Given the description of an element on the screen output the (x, y) to click on. 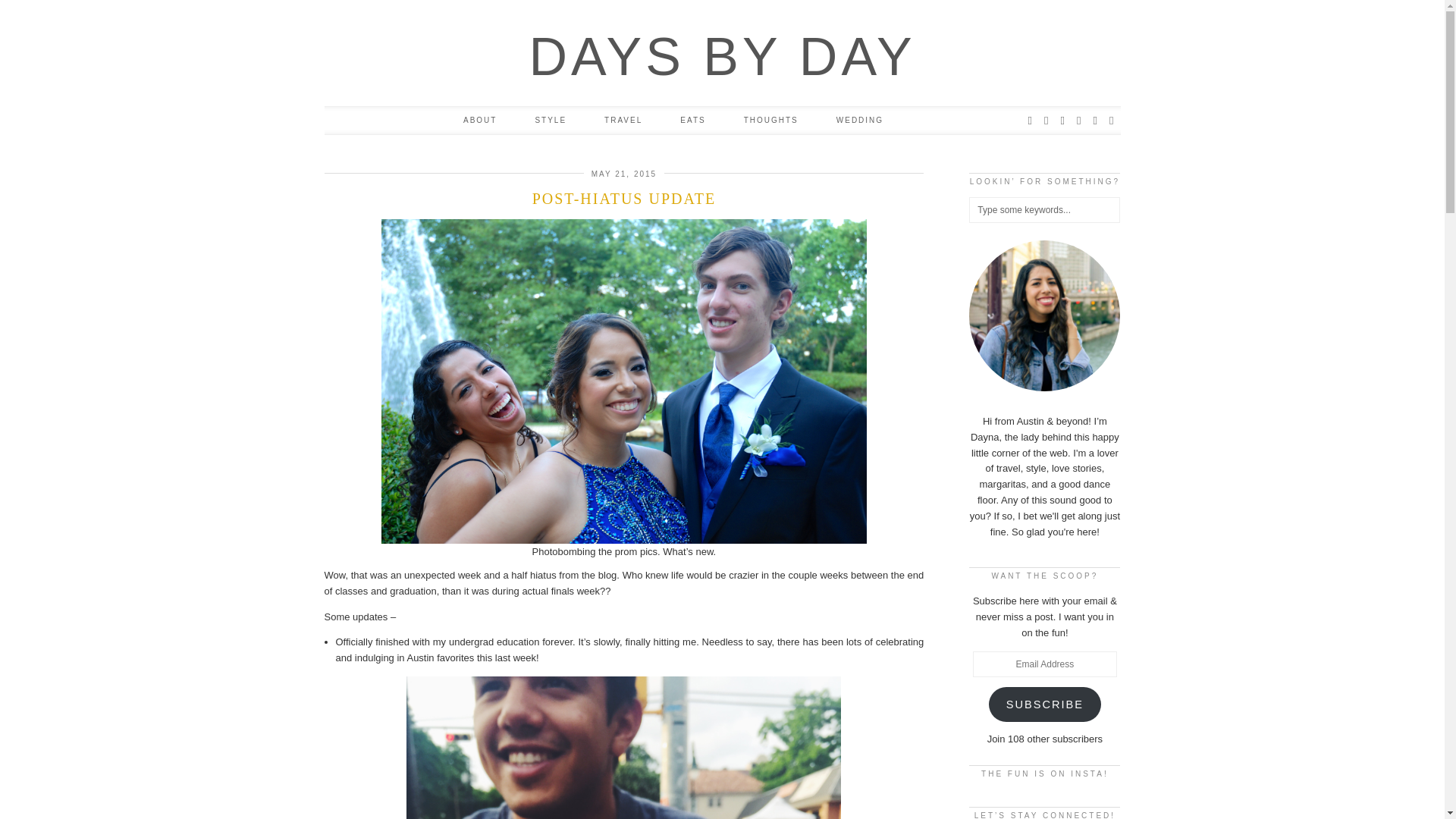
WEDDING (859, 120)
EATS (692, 120)
THOUGHTS (770, 120)
DAYS BY DAY (721, 56)
Days by Day (721, 56)
ABOUT (479, 120)
TRAVEL (623, 120)
STYLE (550, 120)
